Given the description of an element on the screen output the (x, y) to click on. 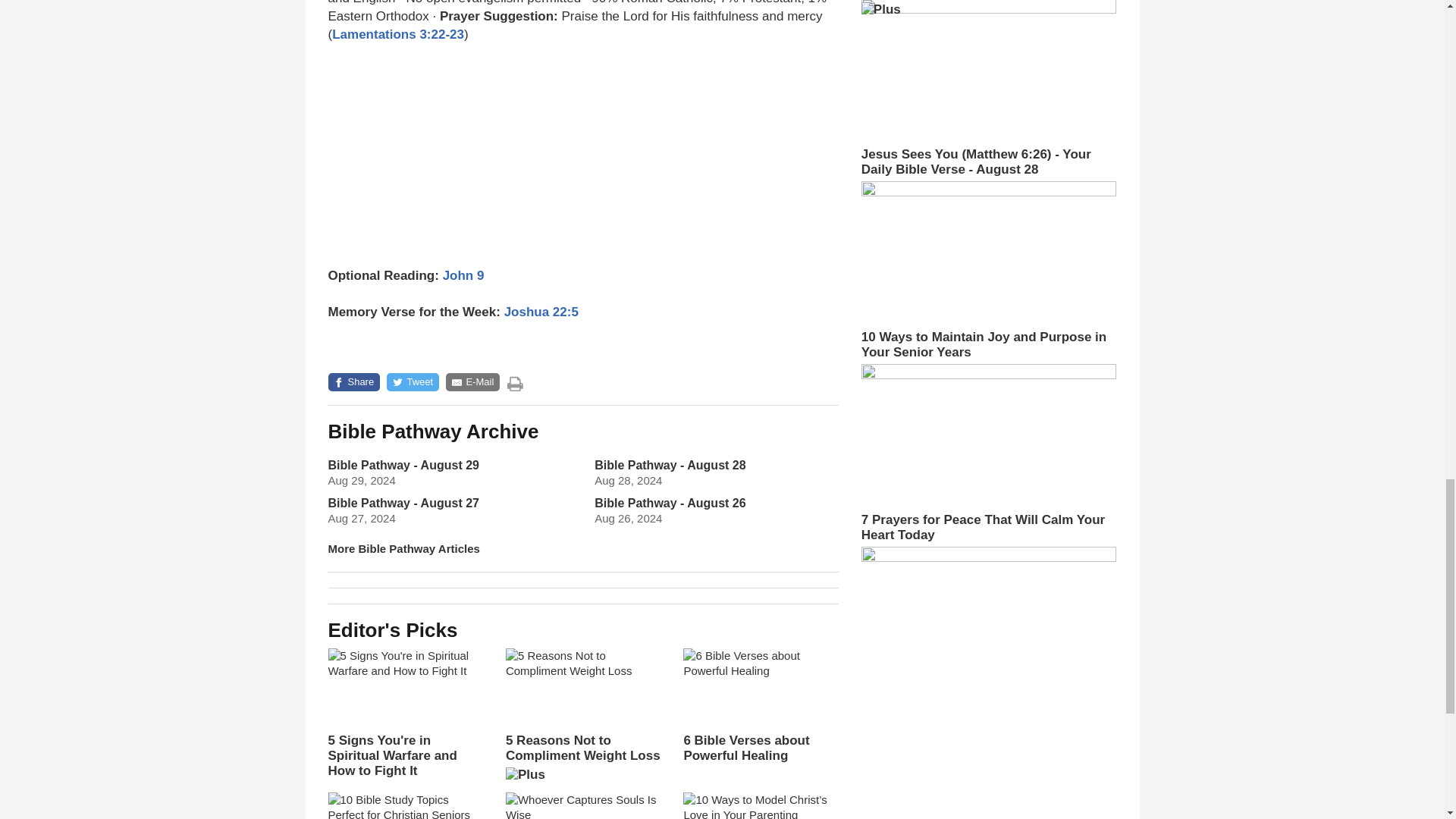
6 Bible Verses about Powerful Healing (760, 705)
Whoever Captures Souls Is Wise (583, 805)
5 Signs You're in Spiritual Warfare and How to Fight It (404, 713)
10 Bible Study Topics Perfect for Christian Seniors (404, 805)
5 Reasons Not to Compliment Weight Loss (583, 720)
